Given the description of an element on the screen output the (x, y) to click on. 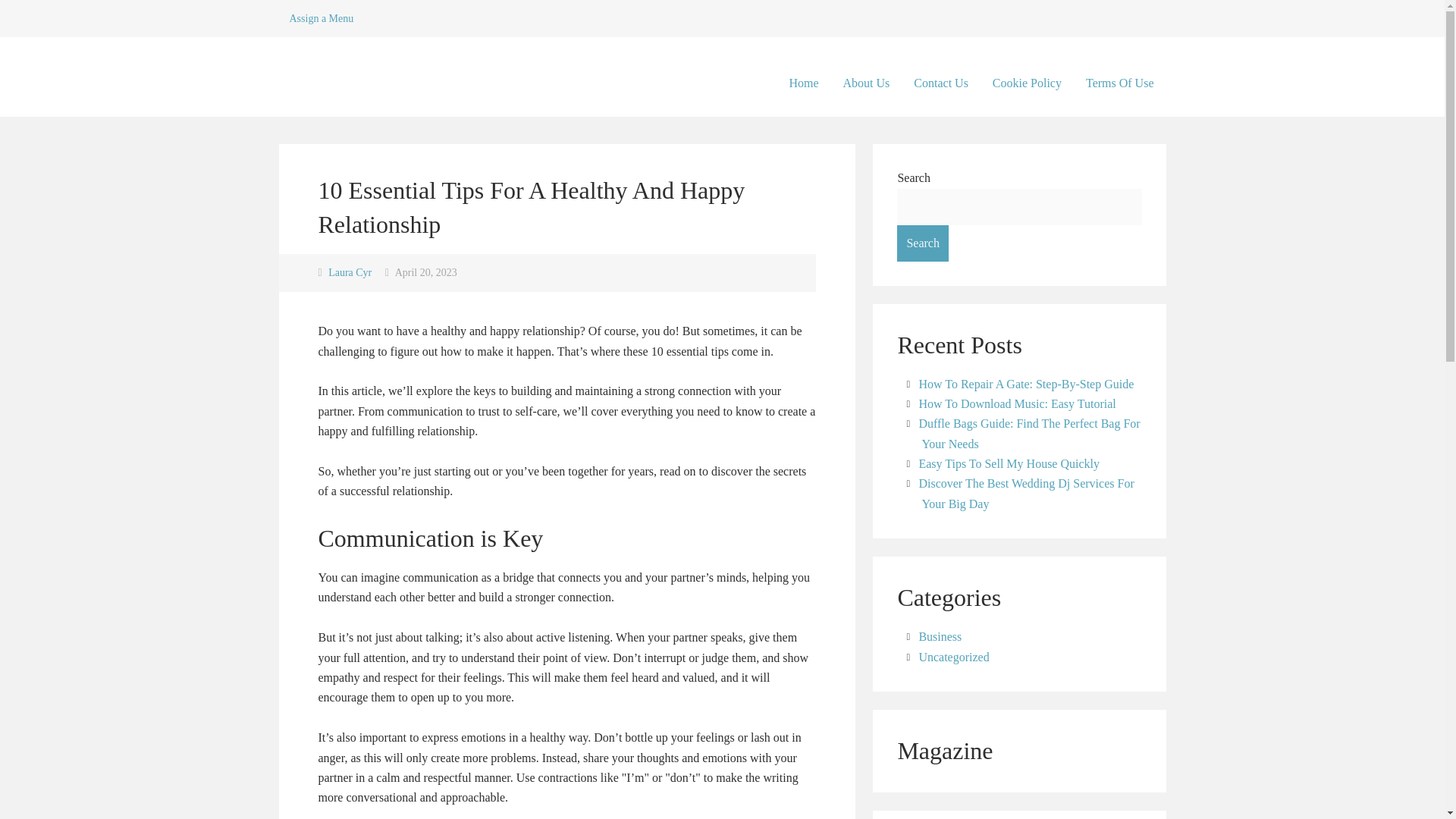
Duffle Bags Guide: Find The Perfect Bag For Your Needs (1029, 432)
Home (802, 82)
Easy Tips To Sell My House Quickly (1008, 463)
About Us (866, 82)
Laura Cyr (350, 272)
Search (922, 243)
Business (939, 635)
Cookie Policy (1026, 82)
Uncategorized (953, 656)
Assign a Menu (322, 18)
Contact Us (940, 82)
Discover The Best Wedding Dj Services For Your Big Day (1026, 492)
How To Repair A Gate: Step-By-Step Guide (1026, 383)
How To Download Music: Easy Tutorial (1016, 403)
Terms Of Use (1120, 82)
